Given the description of an element on the screen output the (x, y) to click on. 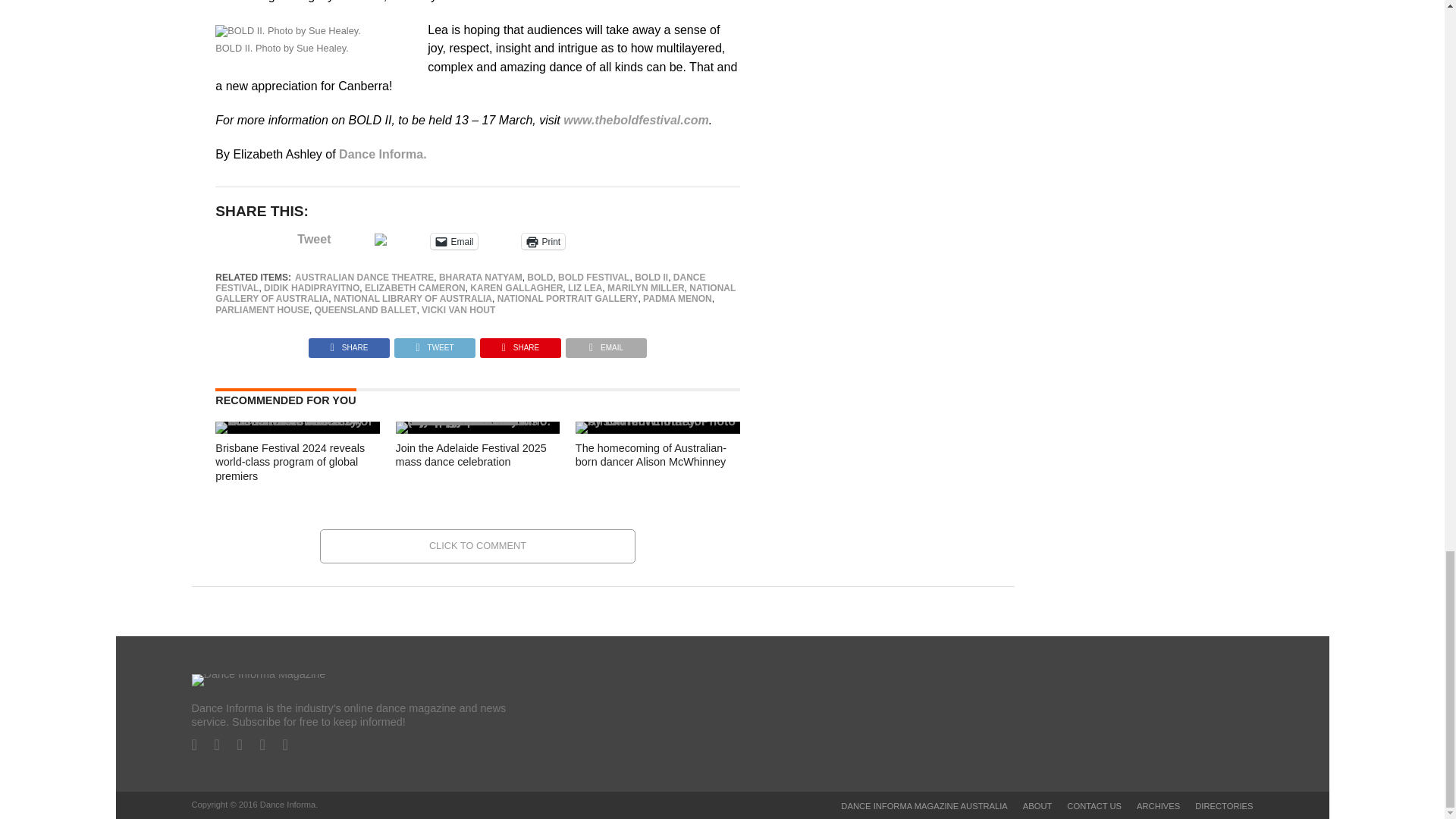
The homecoming of Australian-born dancer Alison McWhinney (657, 420)
Pin This Post (520, 343)
Join the Adelaide Festival 2025 mass dance celebration (478, 420)
Click to email a link to a friend (453, 241)
Share on Facebook (349, 343)
Tweet This Post (434, 343)
Click to print (542, 241)
